Given the description of an element on the screen output the (x, y) to click on. 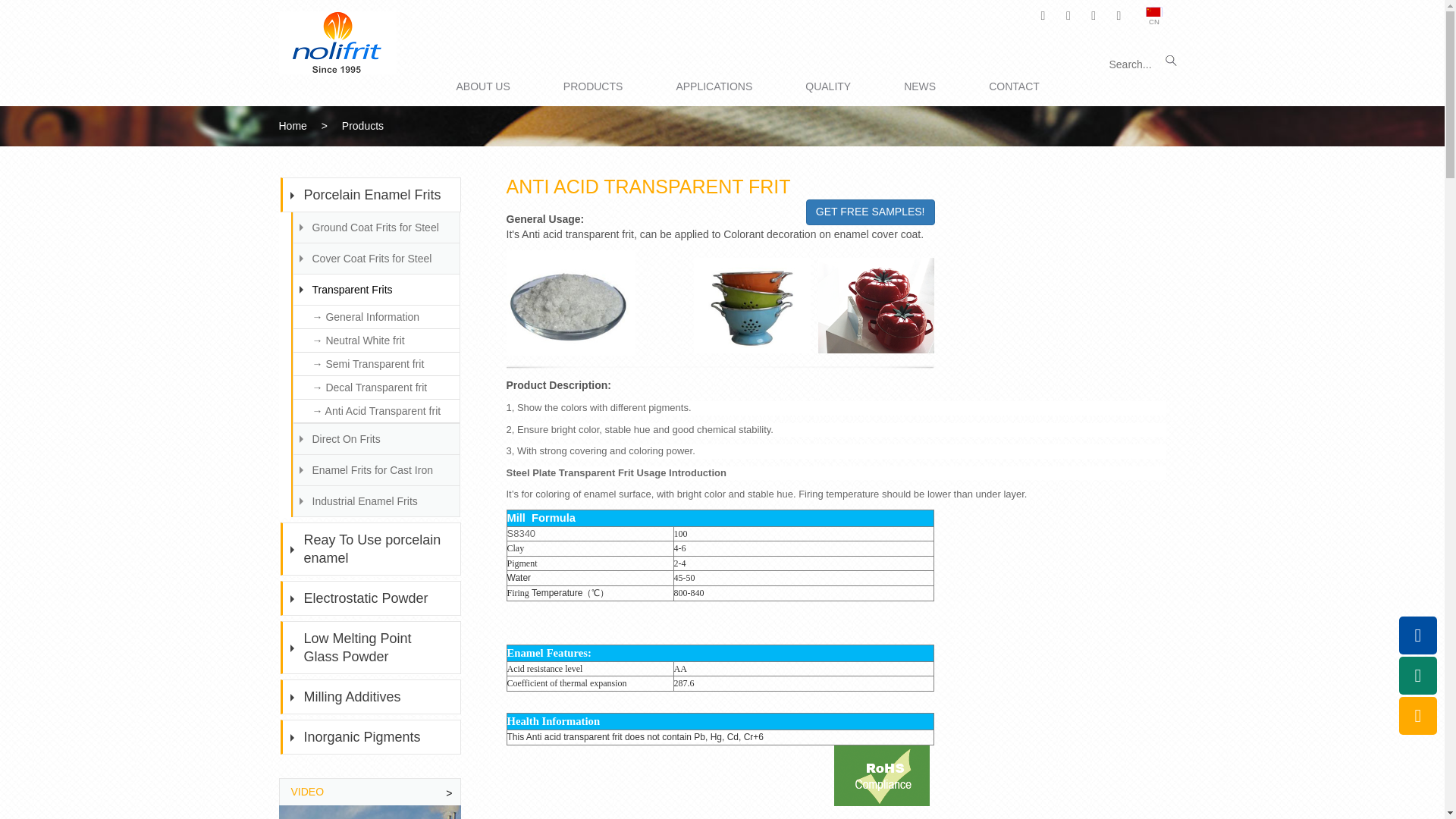
PRODUCTS (593, 86)
ABOUT US (482, 86)
CN (1156, 18)
Home (293, 125)
APPLICATIONS (713, 86)
QUALITY (827, 86)
CONTACT (1013, 86)
GET FREE SAMPLES! (870, 212)
NEWS (920, 86)
Cover Coat Frits for Steel (375, 258)
Ground Coat Frits for Steel (375, 227)
Porcelain Enamel Frits (372, 194)
